Given the description of an element on the screen output the (x, y) to click on. 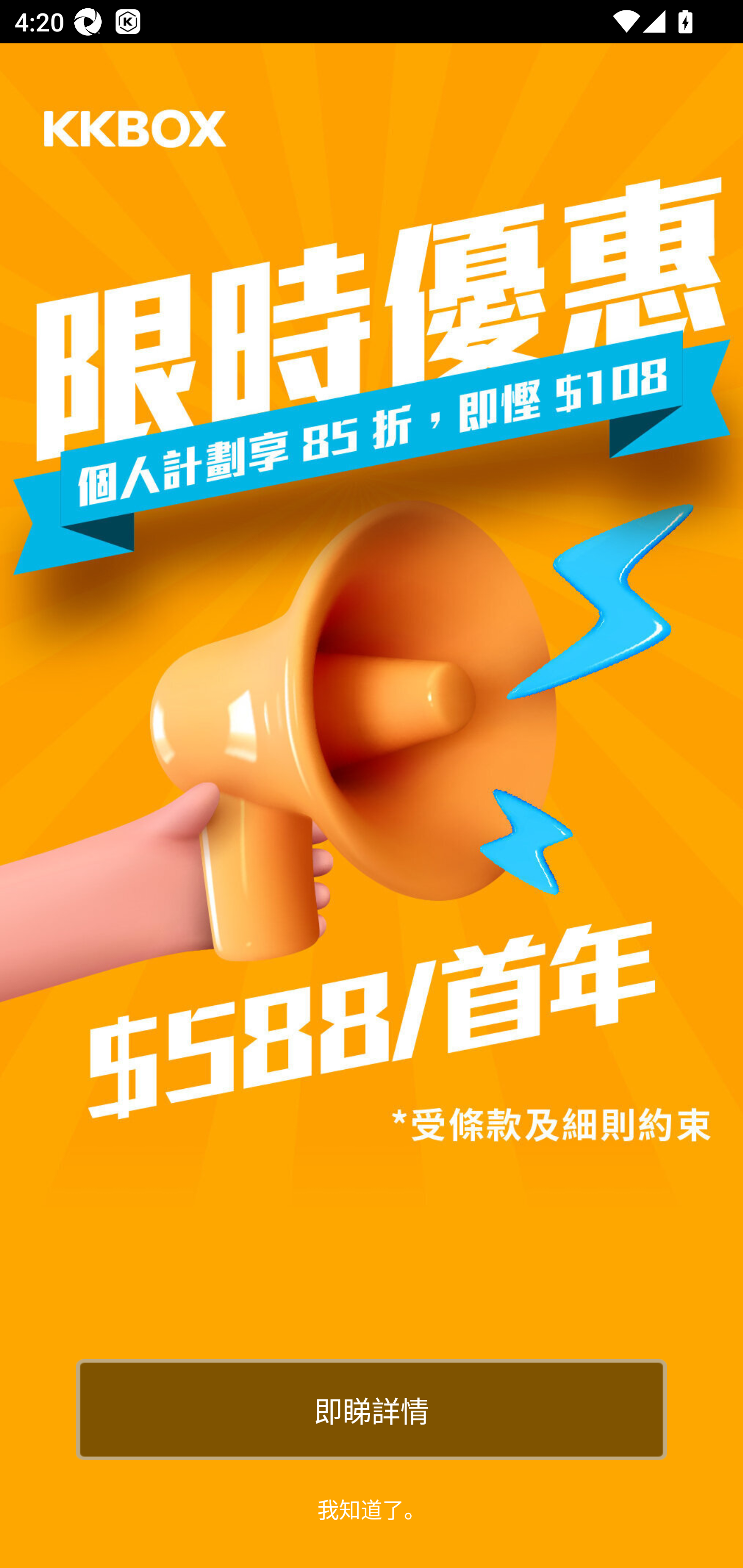
即睇詳情 (371, 1409)
我知道了。 (371, 1508)
